Given the description of an element on the screen output the (x, y) to click on. 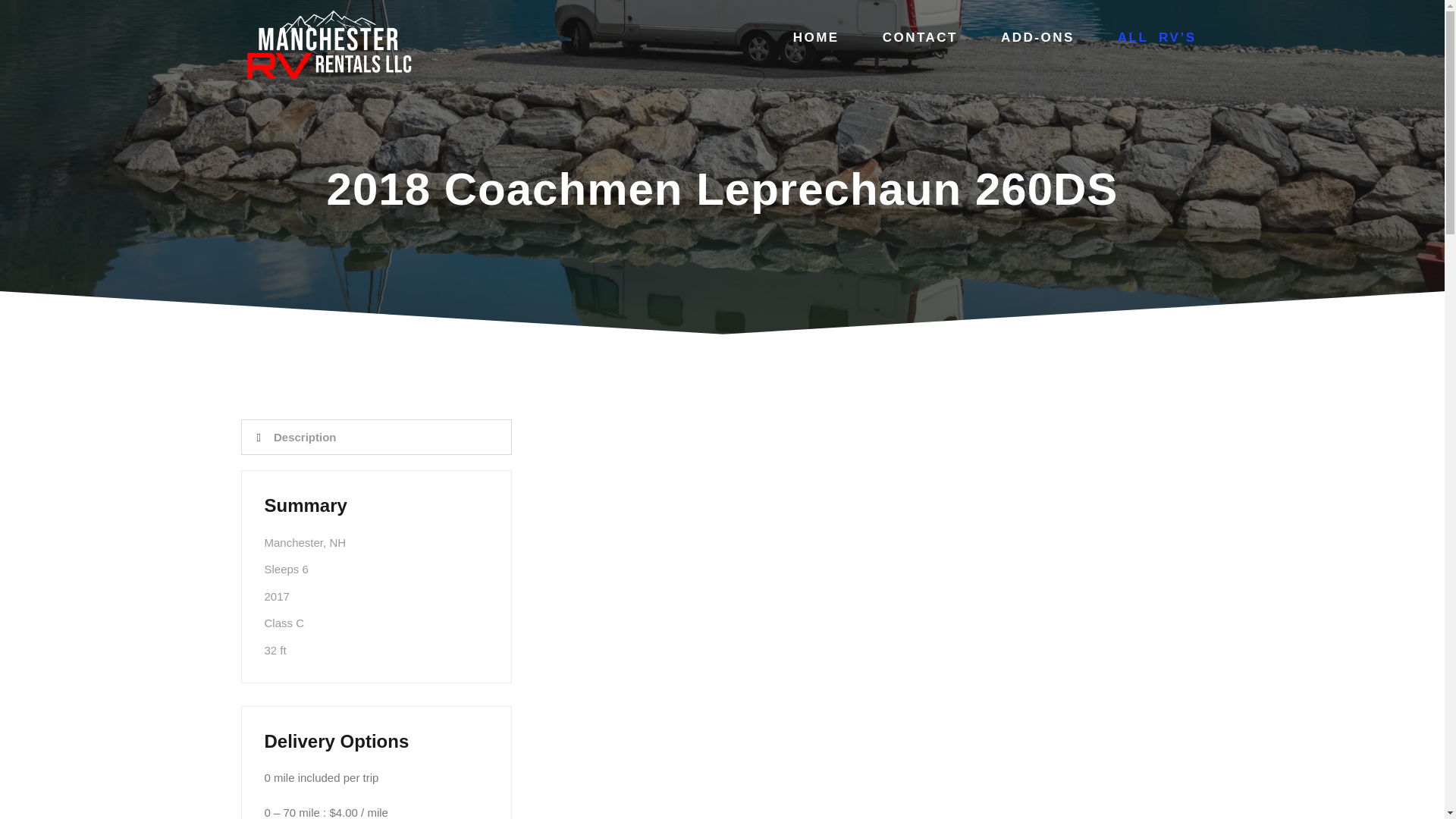
Description (304, 436)
CONTACT (913, 37)
LOGO-MANCHESTER-BLANCOpng (327, 45)
ADD-ONS (1030, 37)
HOME (809, 37)
